Given the description of an element on the screen output the (x, y) to click on. 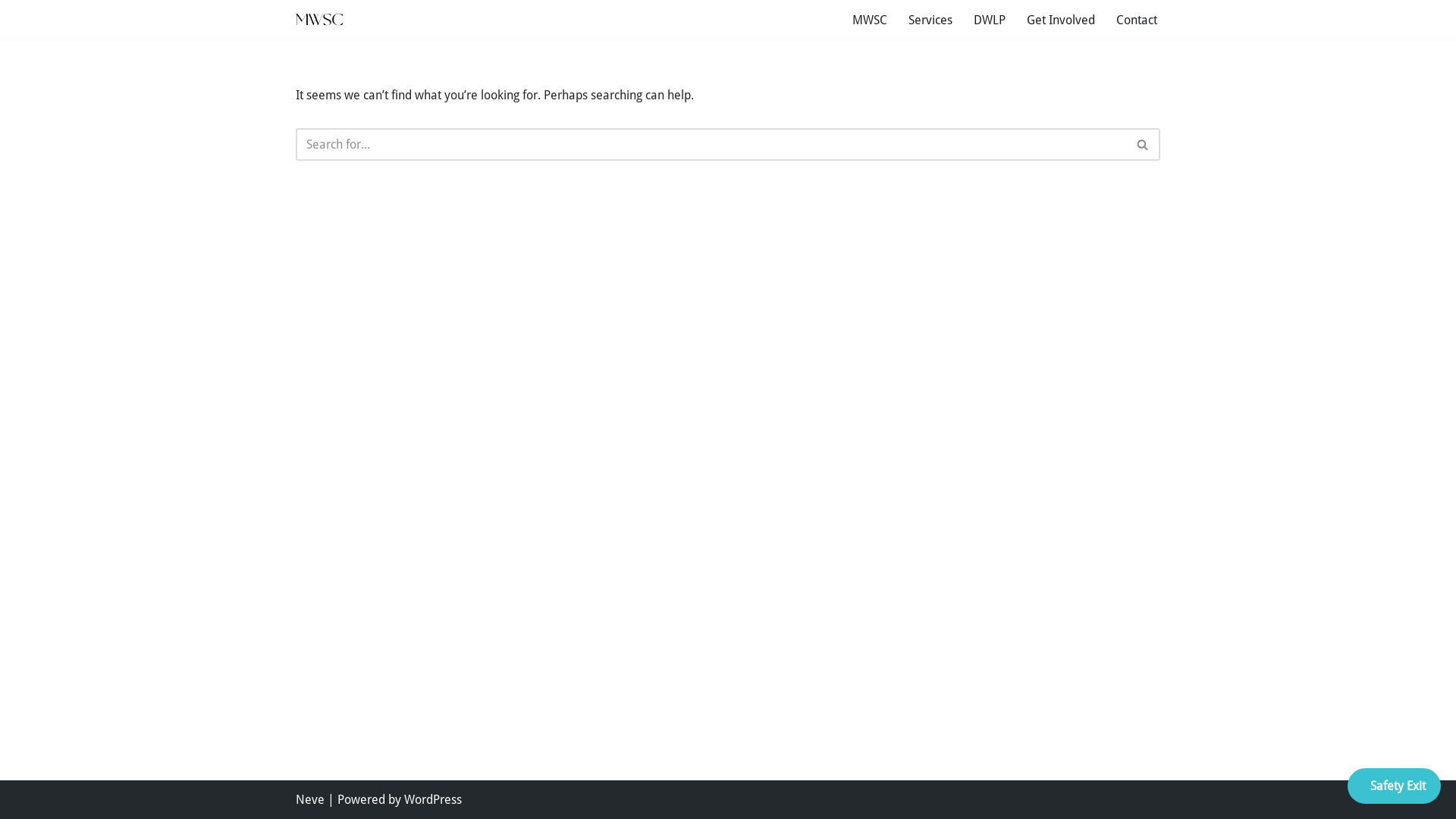
MWSC Element type: text (869, 19)
Contact Element type: text (1136, 19)
Get Involved Element type: text (1060, 19)
DWLP Element type: text (989, 19)
WordPress Element type: text (432, 799)
Neve Element type: text (309, 799)
Skip to content Element type: text (11, 31)
Safety Exit Element type: text (1393, 785)
Services Element type: text (930, 19)
MWSC Element type: hover (319, 19)
